Given the description of an element on the screen output the (x, y) to click on. 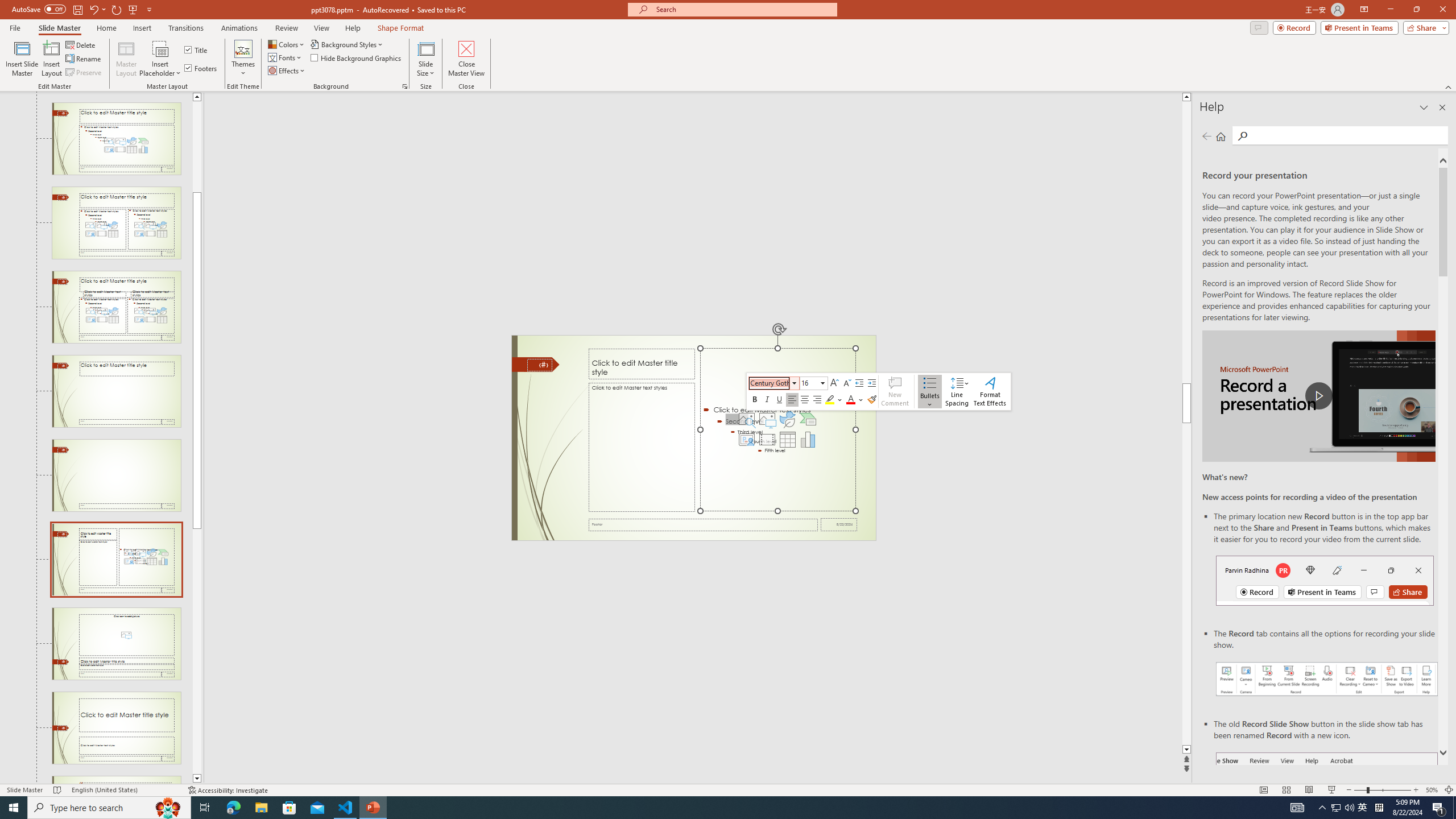
Date (839, 524)
Format Background... (404, 85)
Slide Blank Layout: used by no slides (116, 475)
TextBox (641, 446)
